Given the description of an element on the screen output the (x, y) to click on. 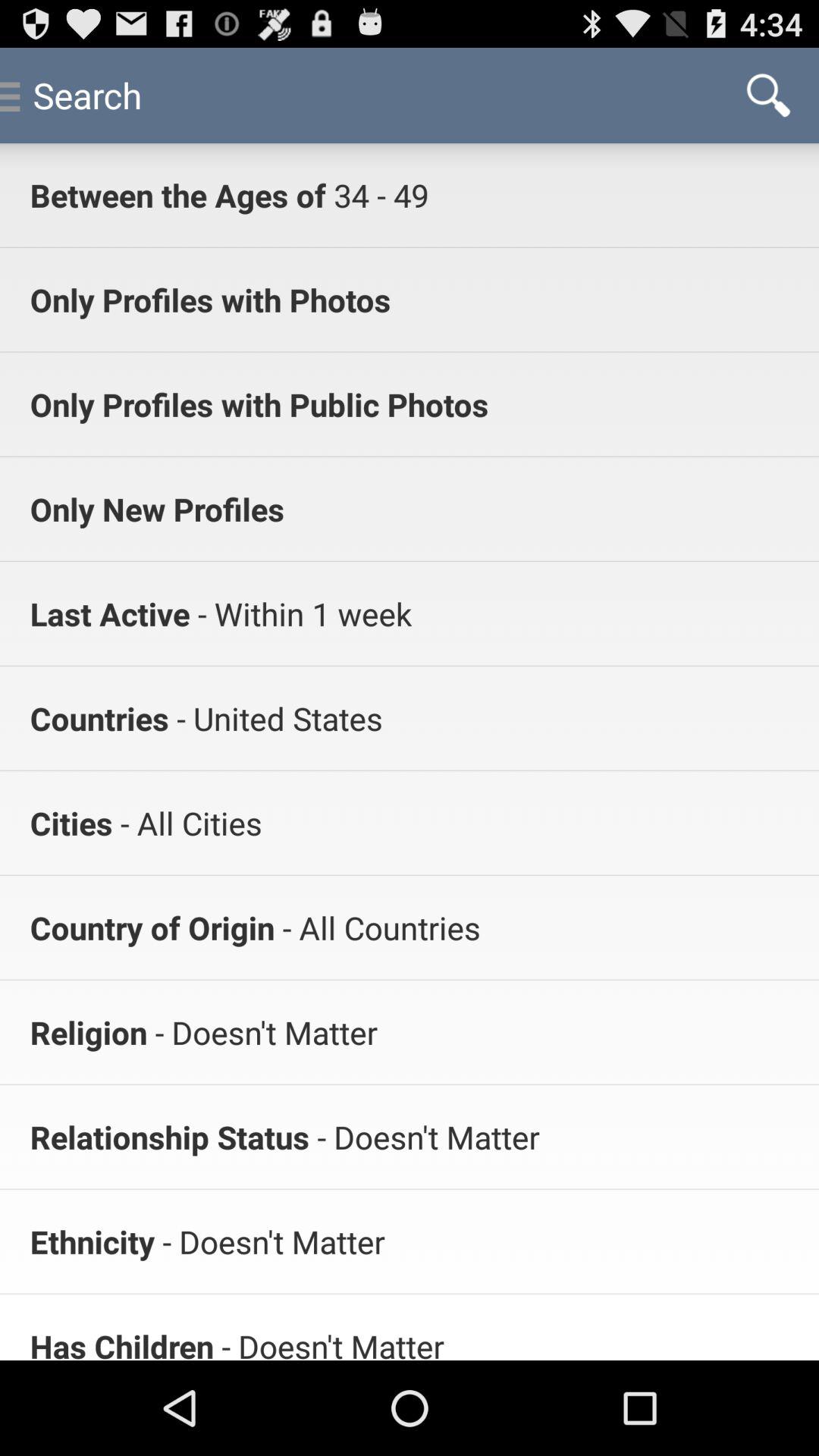
open the ethnicity app (92, 1241)
